Given the description of an element on the screen output the (x, y) to click on. 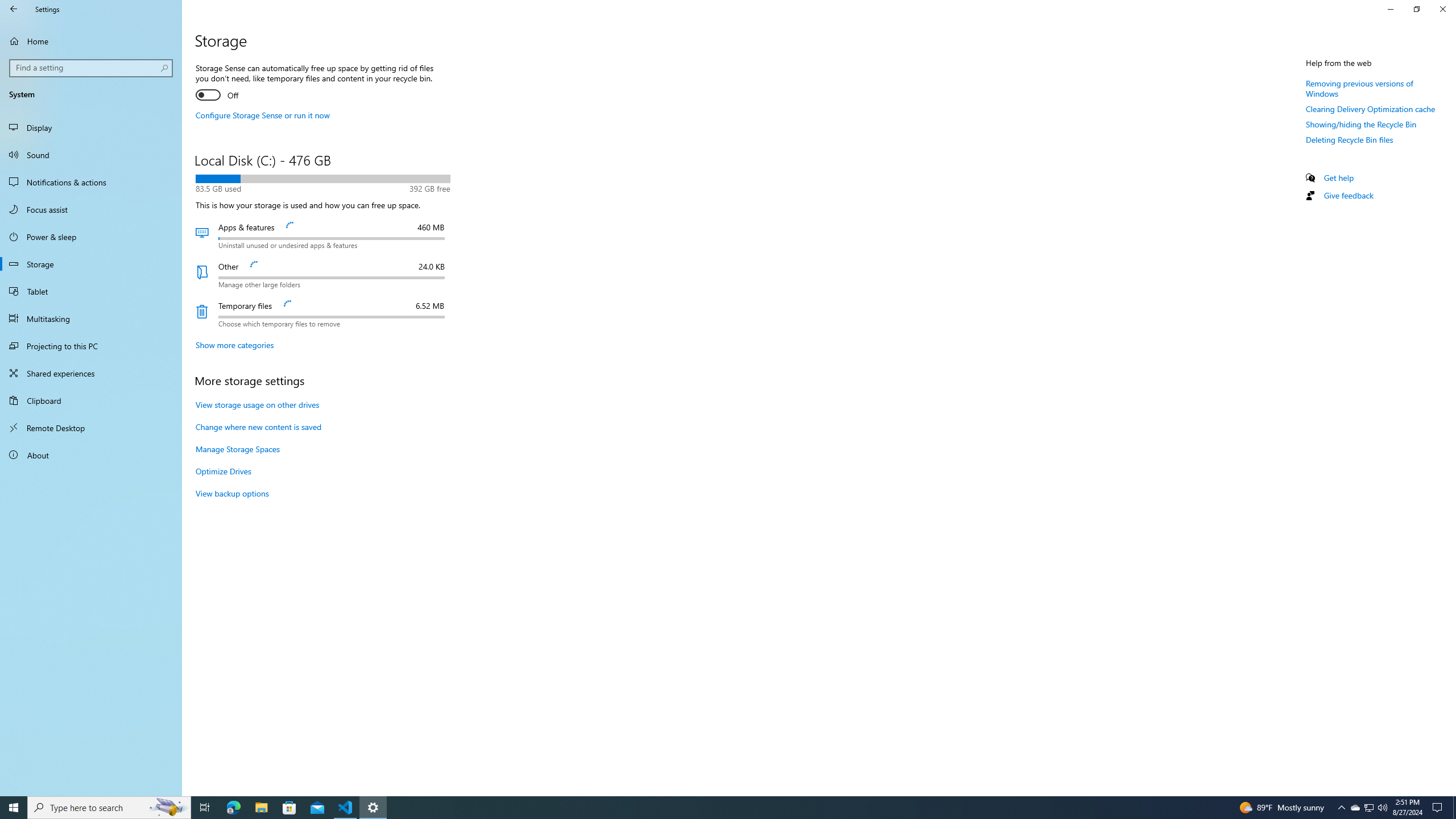
Display (91, 126)
Running applications (717, 807)
Tablet (91, 290)
Close Settings (1442, 9)
Settings - 1 running window (373, 807)
Change where new content is saved (258, 426)
Clipboard (91, 400)
Notifications & actions (91, 181)
Visual Studio Code - 1 running window (345, 807)
Show desktop (1454, 807)
Get help (1338, 177)
Show more categories (1355, 807)
About (234, 344)
